Given the description of an element on the screen output the (x, y) to click on. 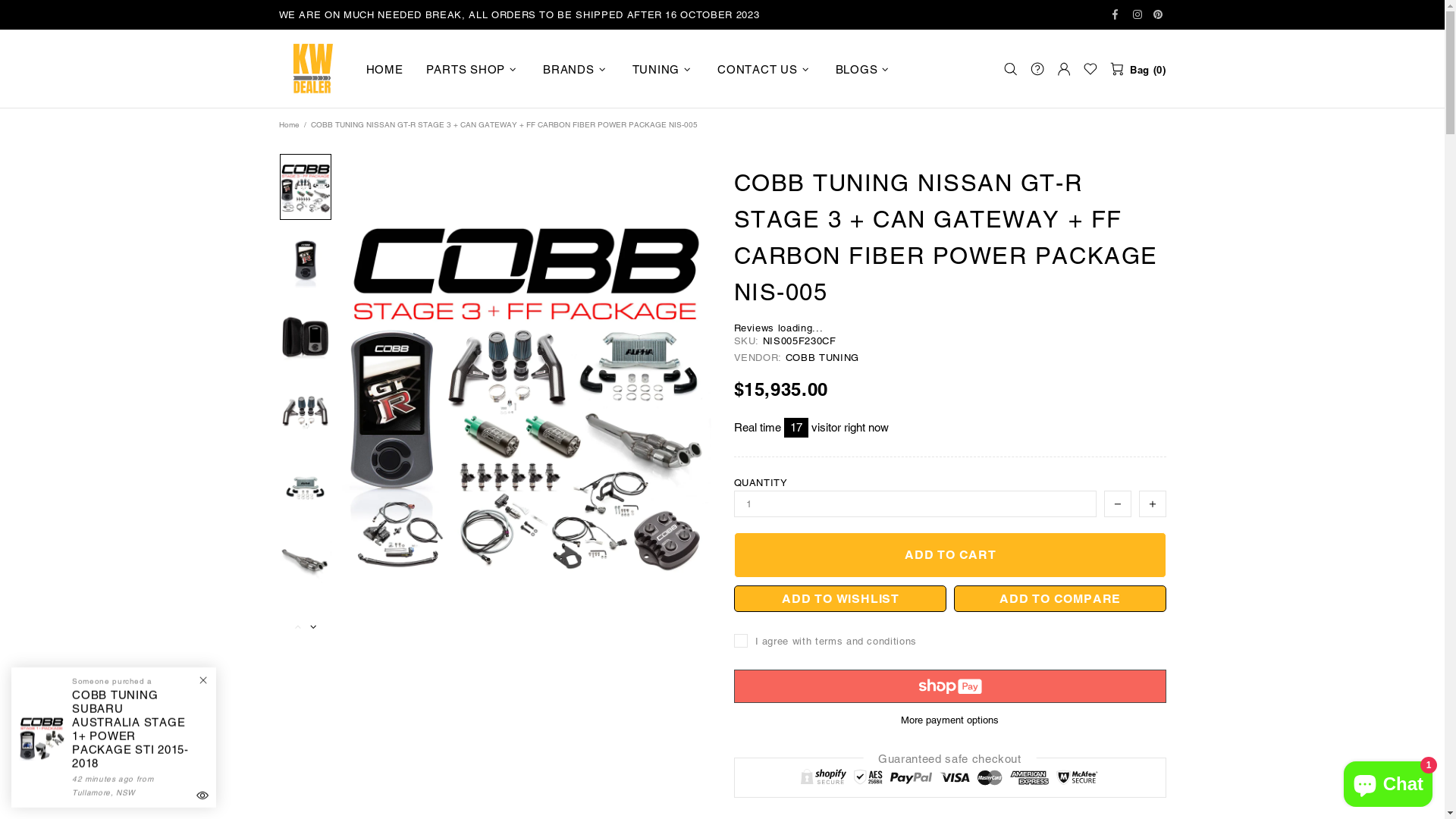
BRANDS Element type: text (576, 69)
BLOGS Element type: text (863, 69)
ADD TO COMPARE Element type: text (1059, 598)
ADD TO WISHLIST Element type: text (840, 598)
Bag (0) Element type: text (1137, 68)
More payment options Element type: text (950, 719)
KW Dealer Element type: text (313, 68)
Home Element type: text (288, 124)
TUNING Element type: text (663, 69)
ADD TO CART Element type: text (950, 554)
CONTACT US Element type: text (765, 69)
PARTS SHOP Element type: text (472, 69)
Shopify online store chat Element type: hover (1388, 780)
HOME Element type: text (384, 69)
